Given the description of an element on the screen output the (x, y) to click on. 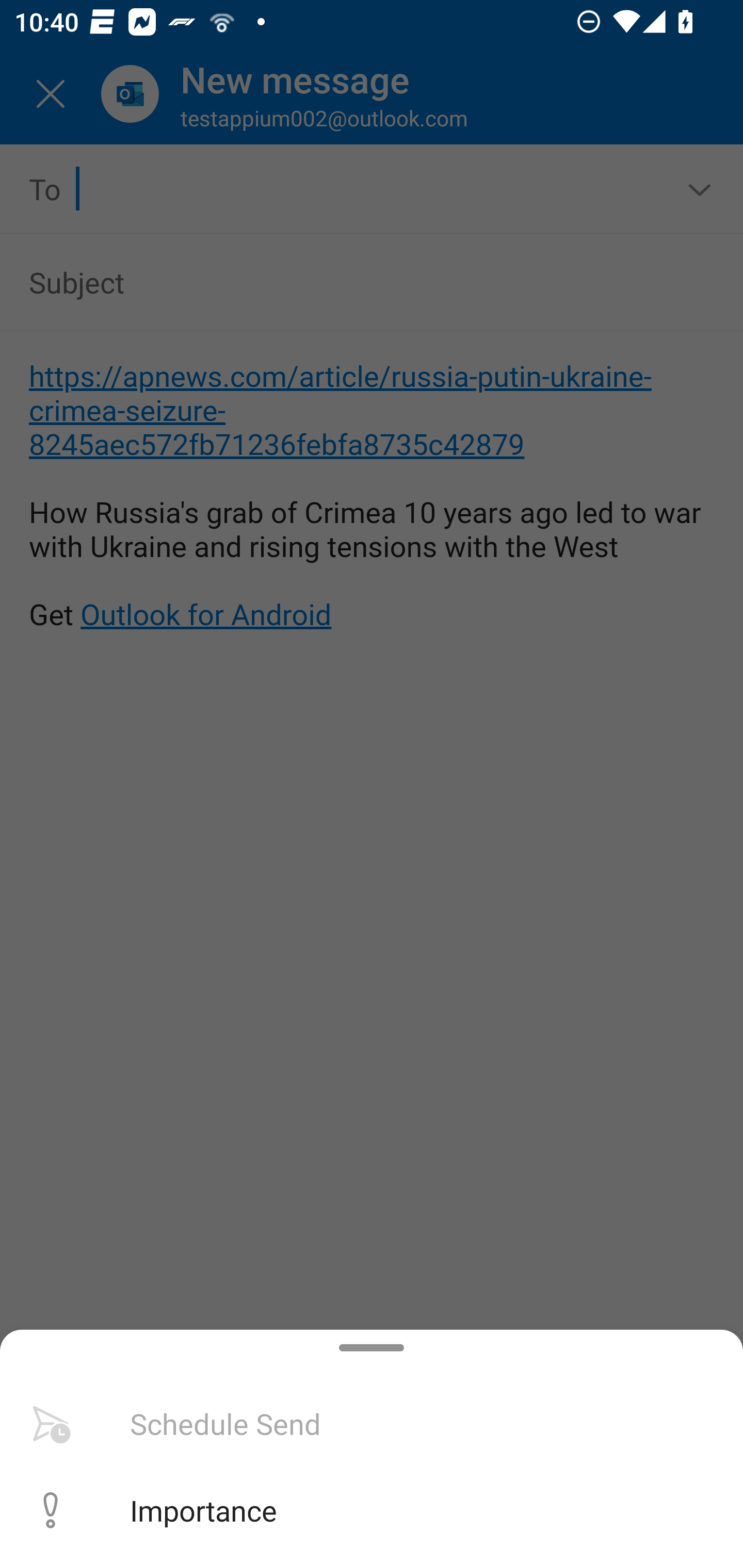
Schedule Send (371, 1423)
Importance (371, 1510)
